Given the description of an element on the screen output the (x, y) to click on. 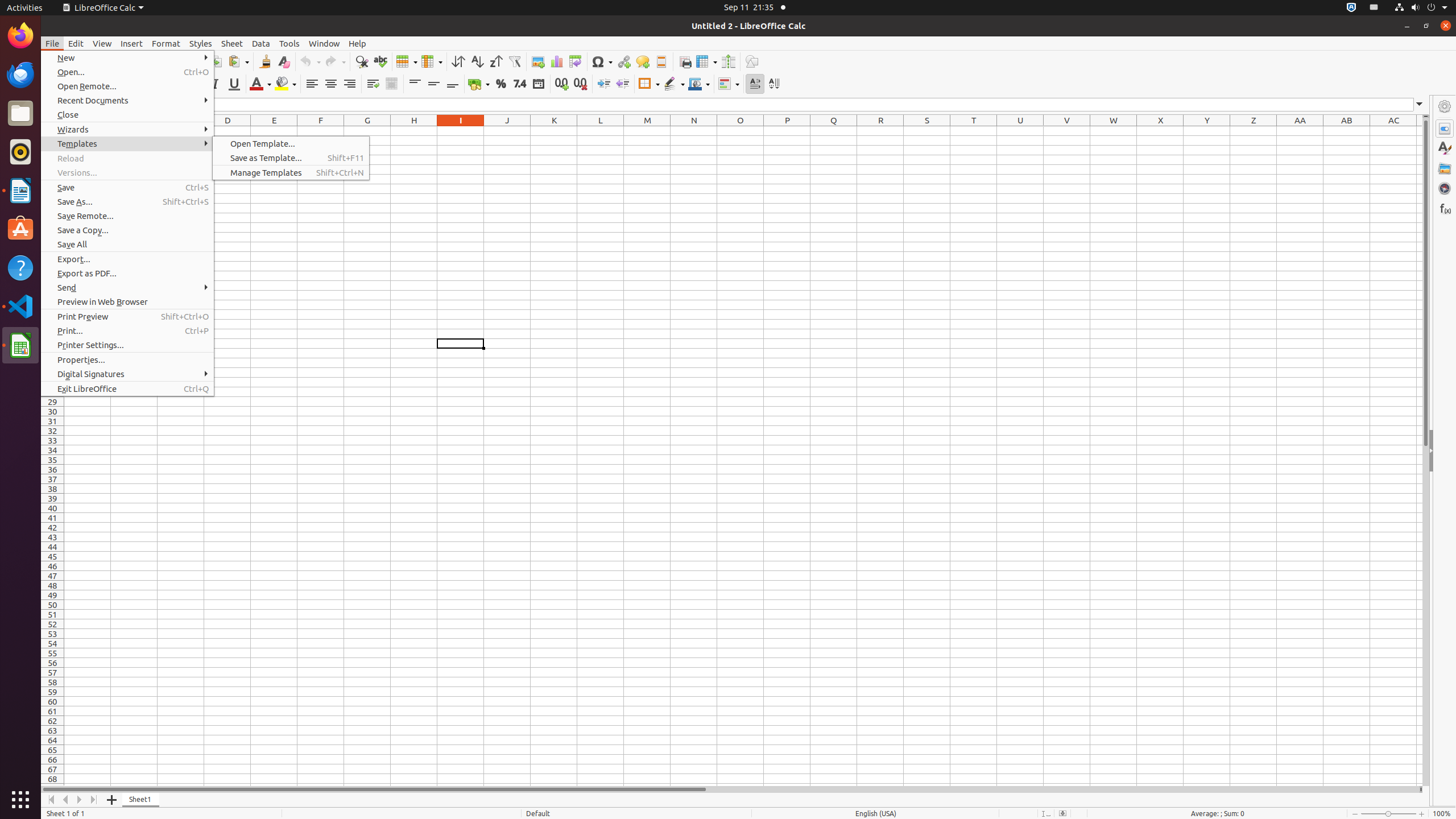
Hyperlink Element type: toggle-button (623, 61)
Pivot Table Element type: push-button (574, 61)
LibreOffice Calc Element type: menu (102, 7)
Styles Element type: menu (200, 43)
Headers and Footers Element type: push-button (660, 61)
